Given the description of an element on the screen output the (x, y) to click on. 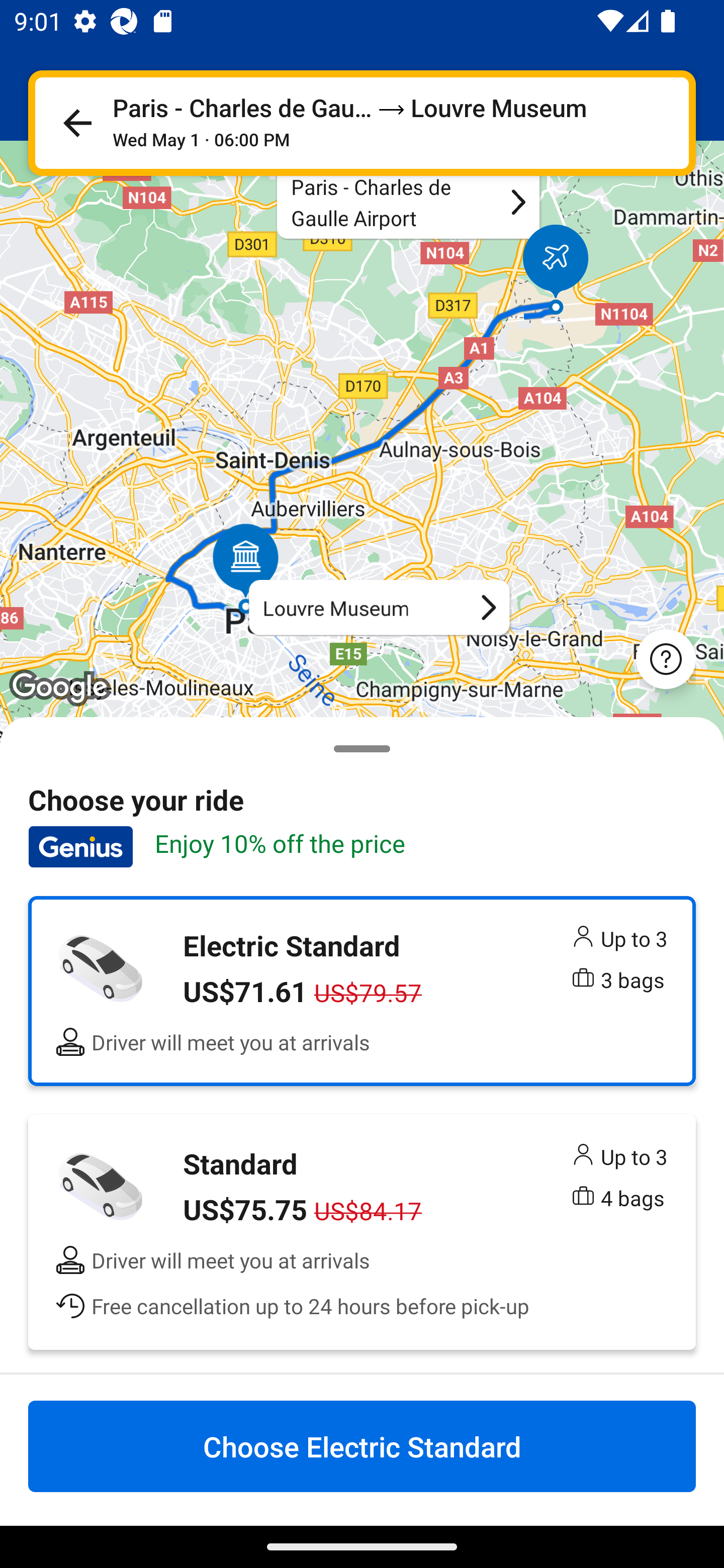
Back (77, 122)
Help center (665, 658)
Choose Electric Standard (361, 1446)
